Given the description of an element on the screen output the (x, y) to click on. 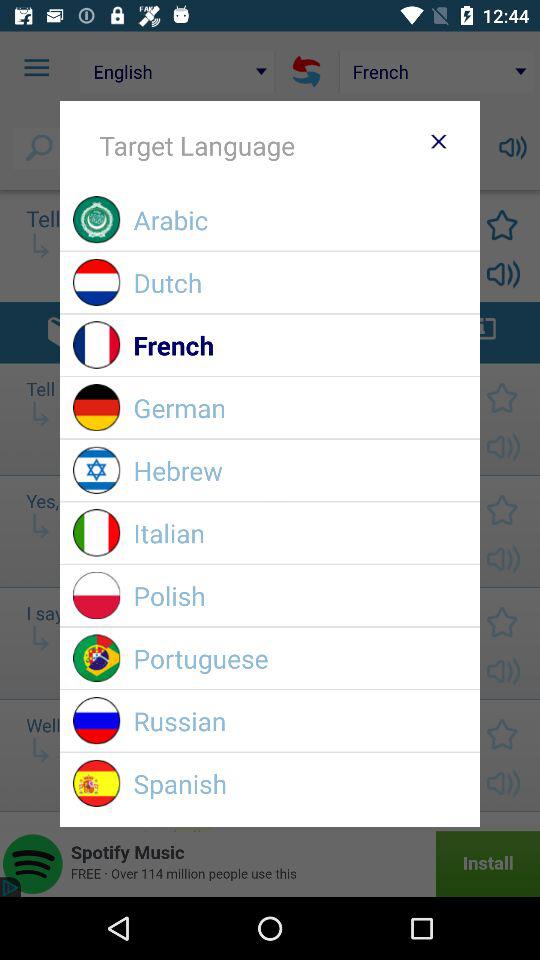
click icon below the arabic icon (300, 282)
